Given the description of an element on the screen output the (x, y) to click on. 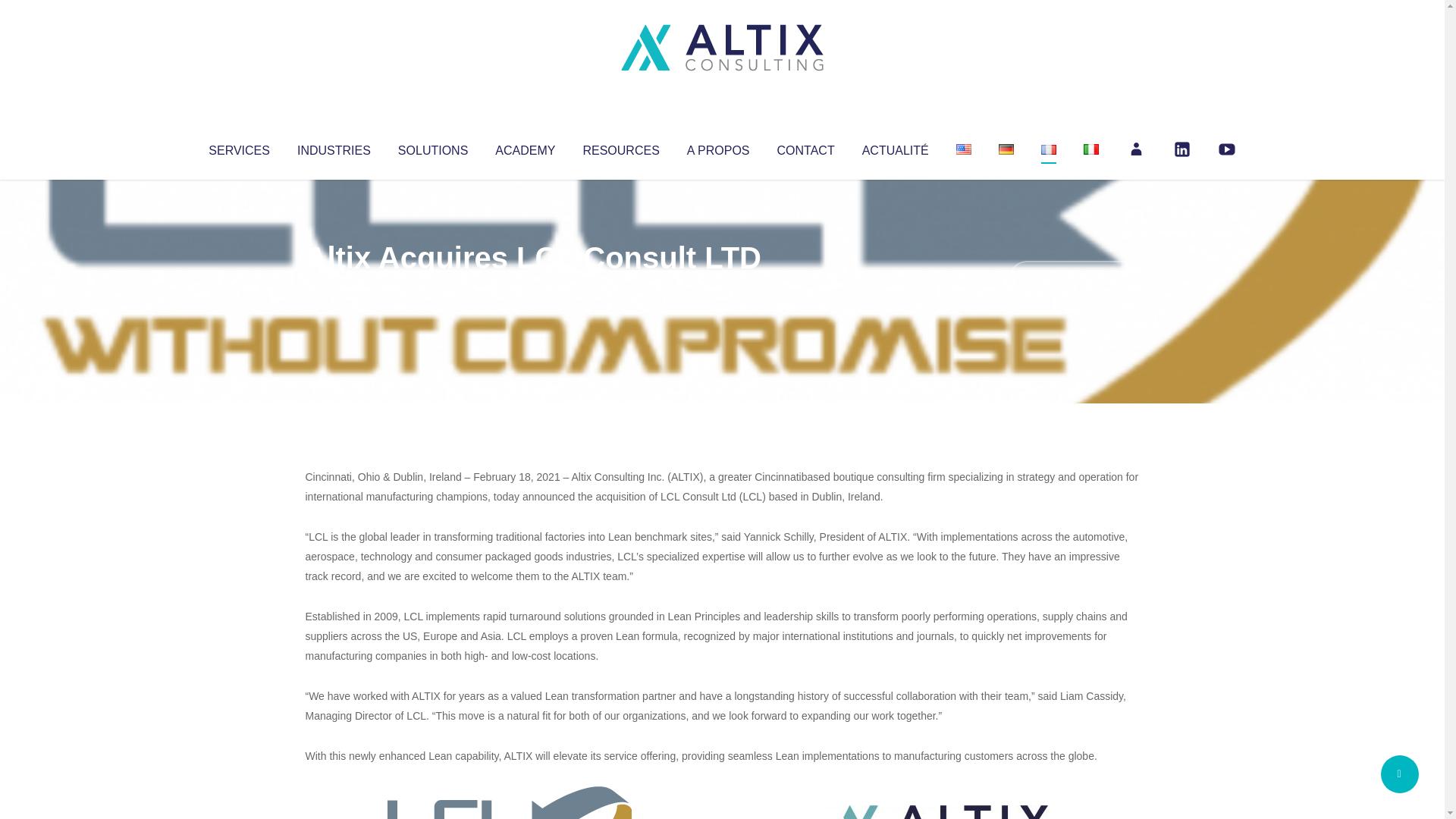
SOLUTIONS (432, 146)
Altix (333, 287)
A PROPOS (718, 146)
ACADEMY (524, 146)
Articles par Altix (333, 287)
RESOURCES (620, 146)
Uncategorized (530, 287)
SERVICES (238, 146)
INDUSTRIES (334, 146)
No Comments (1073, 278)
